Given the description of an element on the screen output the (x, y) to click on. 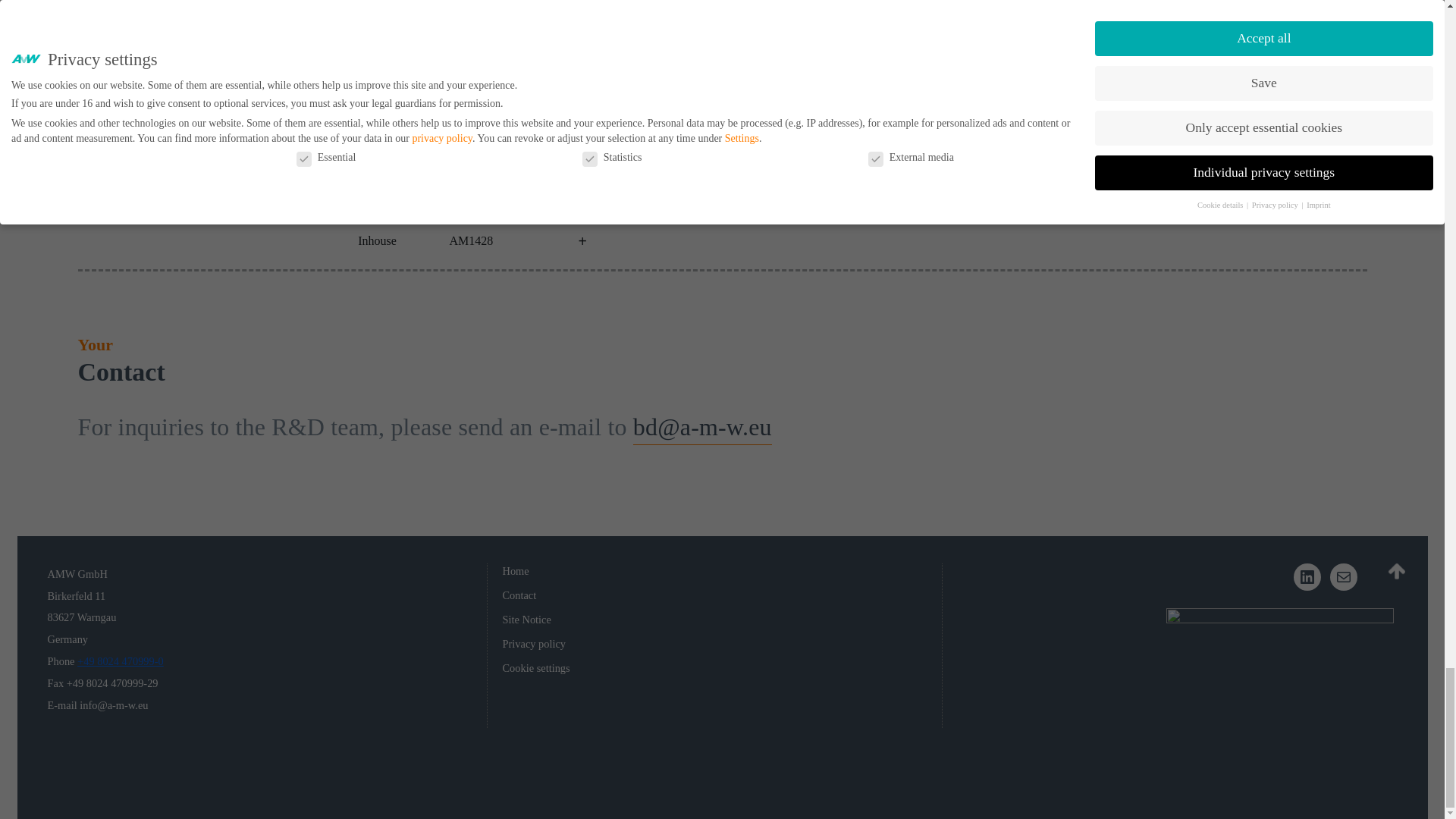
mehr Informationen (581, 111)
mehr Informationen (581, 240)
Back to top (1396, 571)
mehr Informationen (581, 160)
mehr Informationen (581, 29)
